Given the description of an element on the screen output the (x, y) to click on. 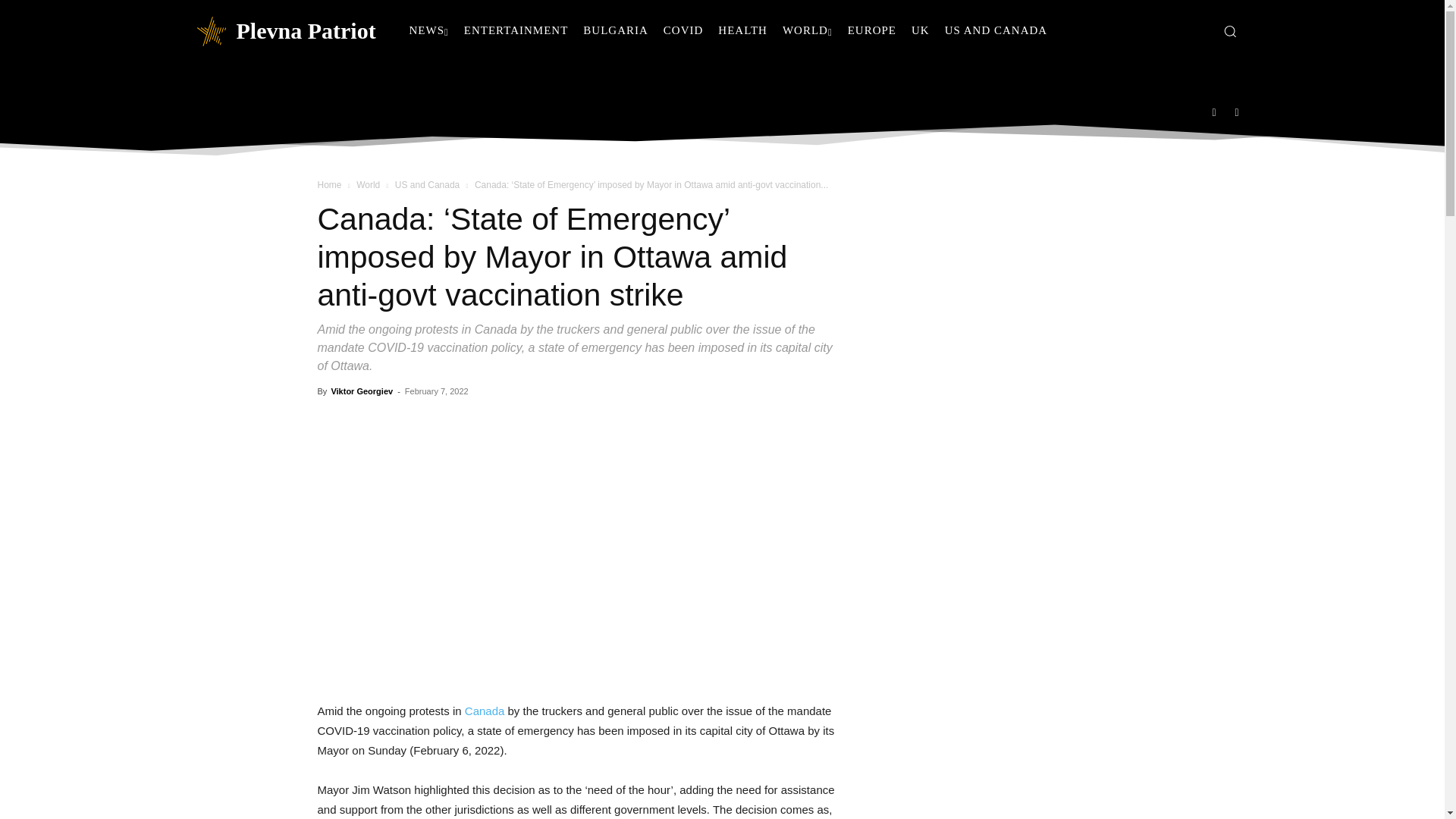
NEWS (429, 30)
Twitter (1237, 111)
ENTERTAINMENT (516, 30)
COVID (683, 30)
Home (328, 184)
HEALTH (742, 30)
WORLD (807, 30)
View all posts in US and Canada (427, 184)
Plevna Patriot (284, 30)
BULGARIA (615, 30)
